Given the description of an element on the screen output the (x, y) to click on. 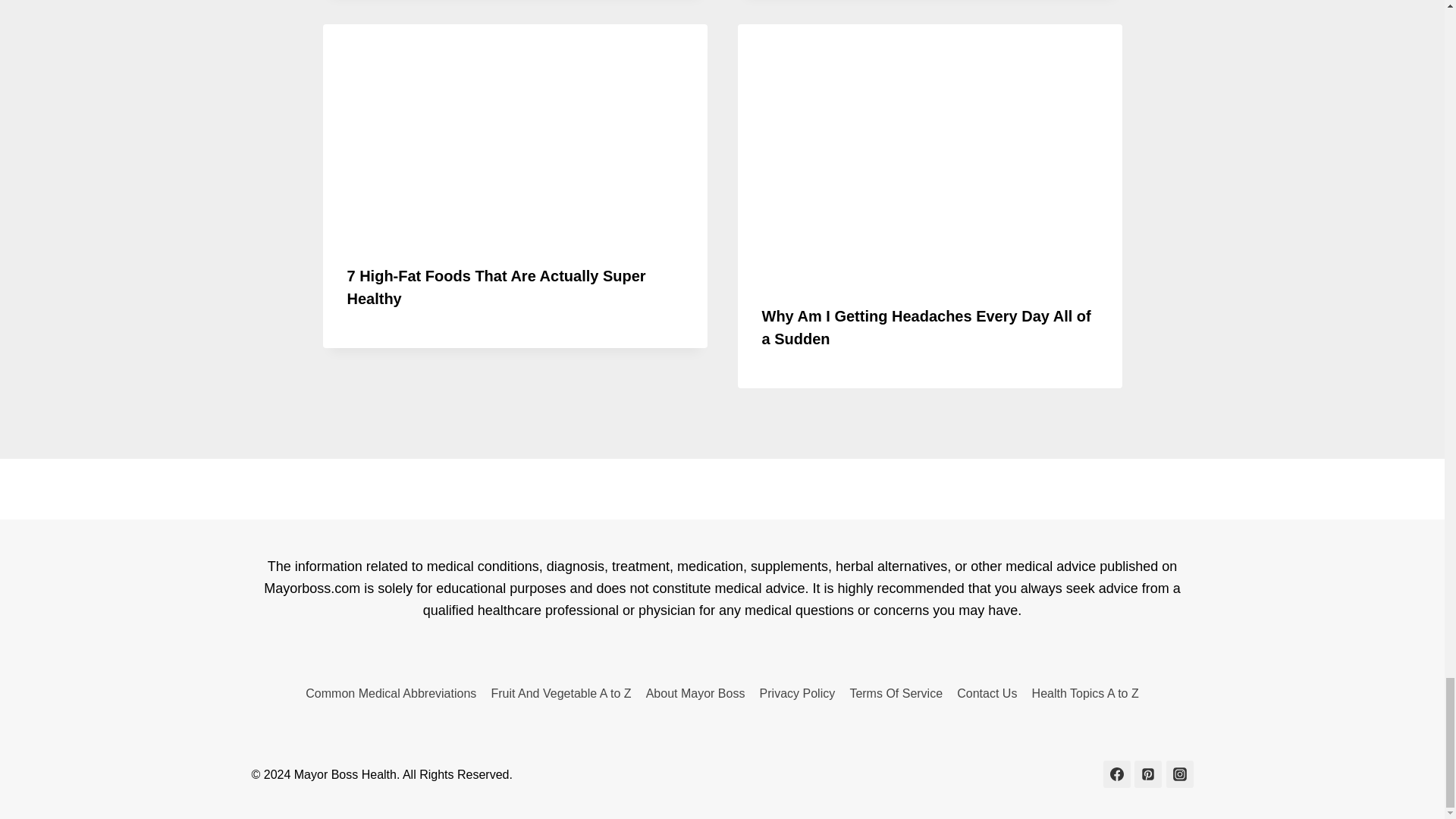
Fruit And Vegetable A to Z (561, 693)
Terms Of Service (896, 693)
About Mayor Boss (695, 693)
7 High-Fat Foods That Are Actually Super Healthy (496, 287)
Common Medical Abbreviations (390, 693)
Why Am I Getting Headaches Every Day All of a Sudden (925, 327)
Privacy Policy (797, 693)
